Given the description of an element on the screen output the (x, y) to click on. 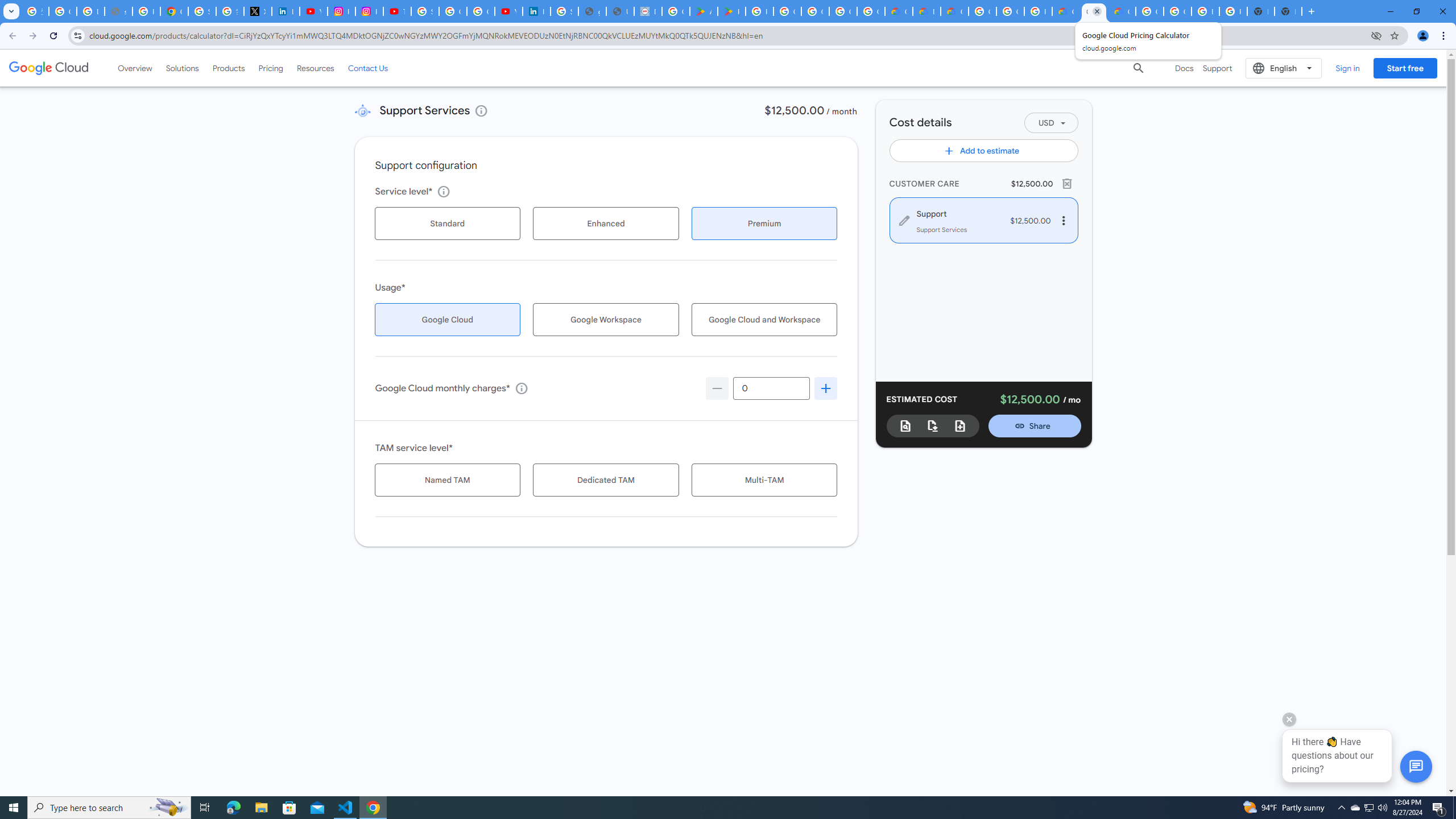
Open detailed view (905, 425)
User Details (620, 11)
YouTube Content Monetization Policies - How YouTube Works (313, 11)
Google Cloud Pricing Calculator (1093, 11)
Google Cloud Platform (1010, 11)
Google Cloud (48, 67)
LinkedIn Privacy Policy (285, 11)
Products (228, 67)
Google Cloud monthly charges* tooltip (770, 388)
